Given the description of an element on the screen output the (x, y) to click on. 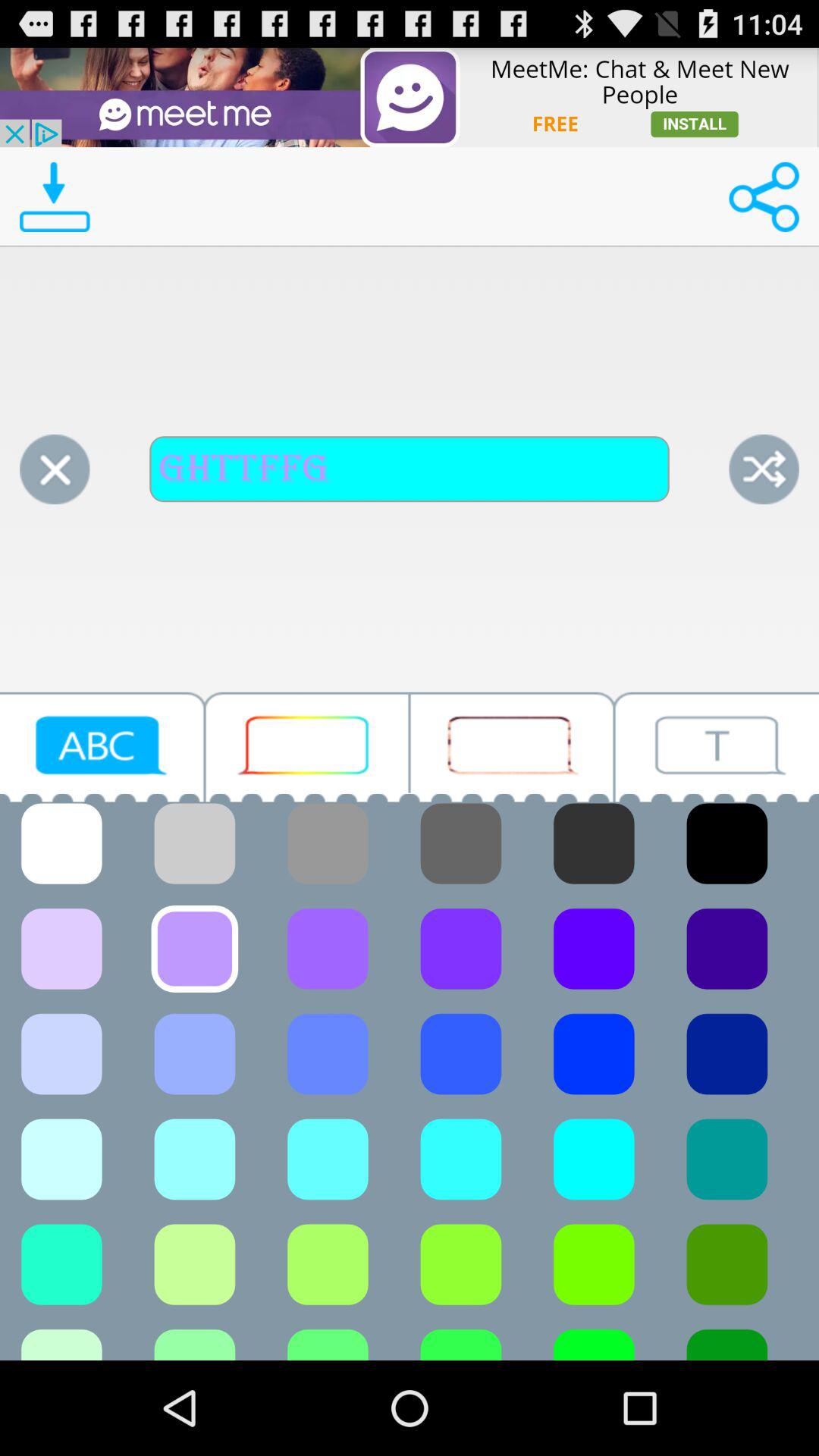
click the letter option (102, 746)
